Given the description of an element on the screen output the (x, y) to click on. 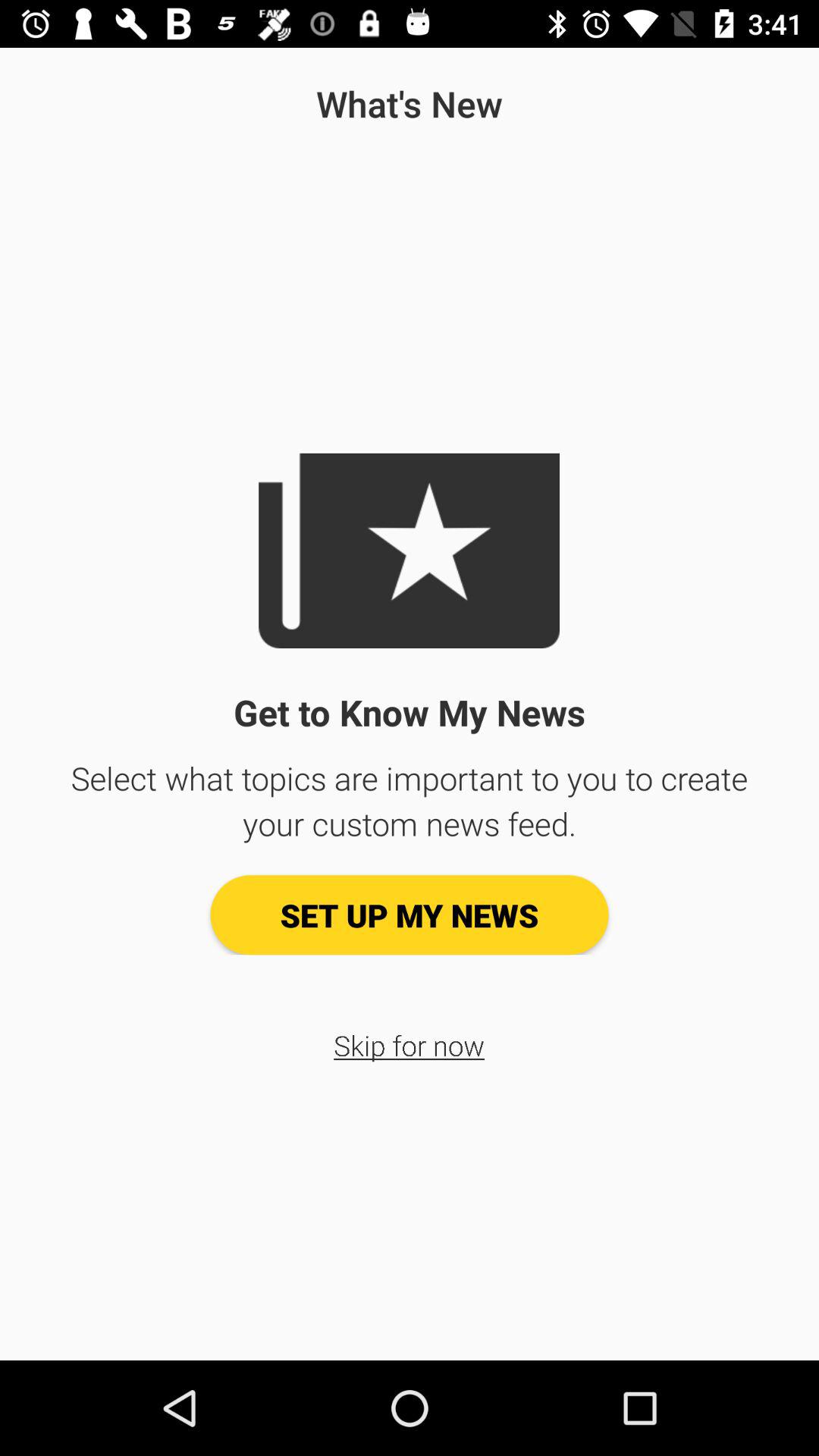
open the button below the set up my (409, 1044)
